Given the description of an element on the screen output the (x, y) to click on. 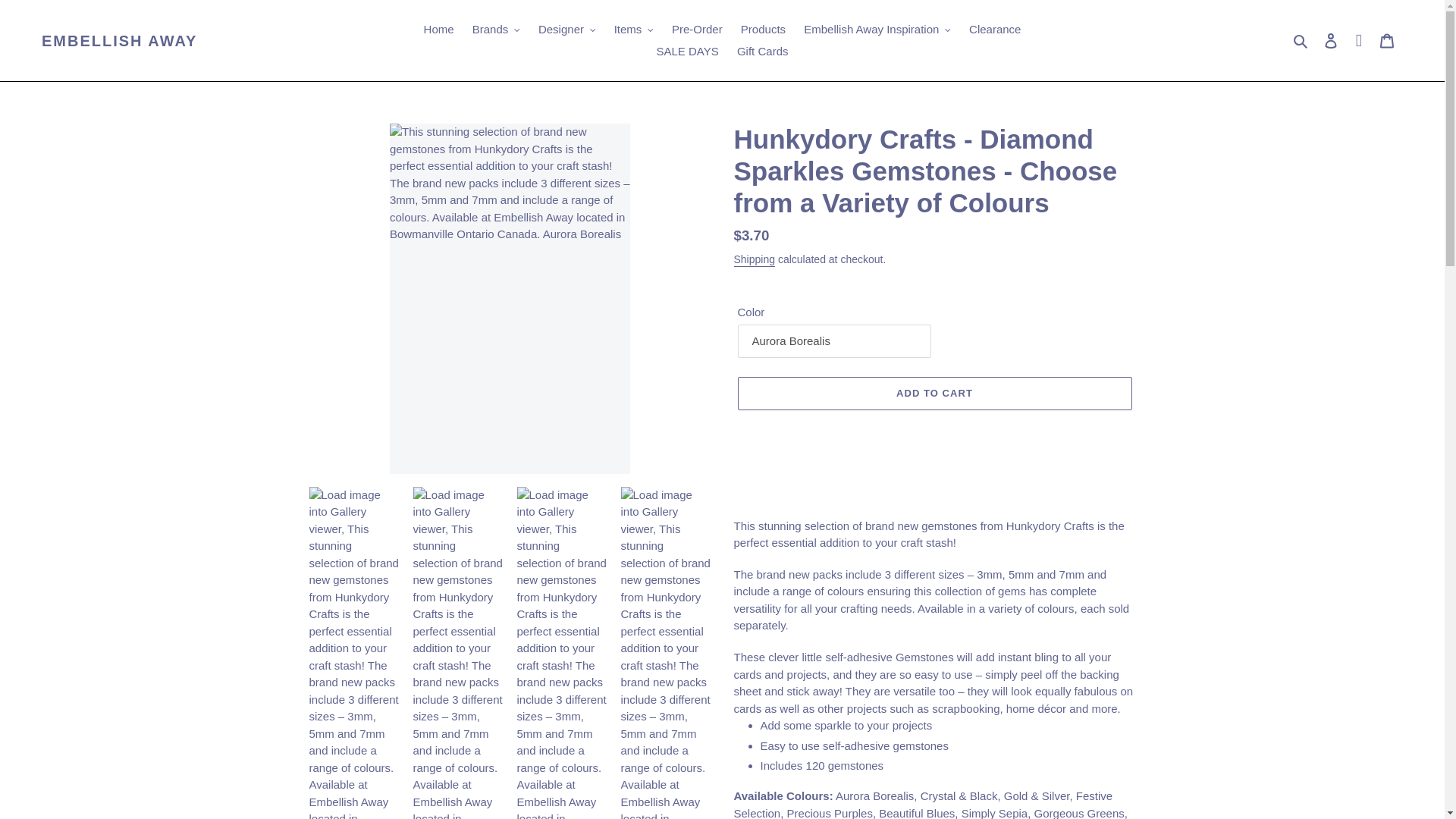
Items (634, 29)
Brands (495, 29)
Home (438, 29)
Designer (567, 29)
EMBELLISH AWAY (119, 40)
